Given the description of an element on the screen output the (x, y) to click on. 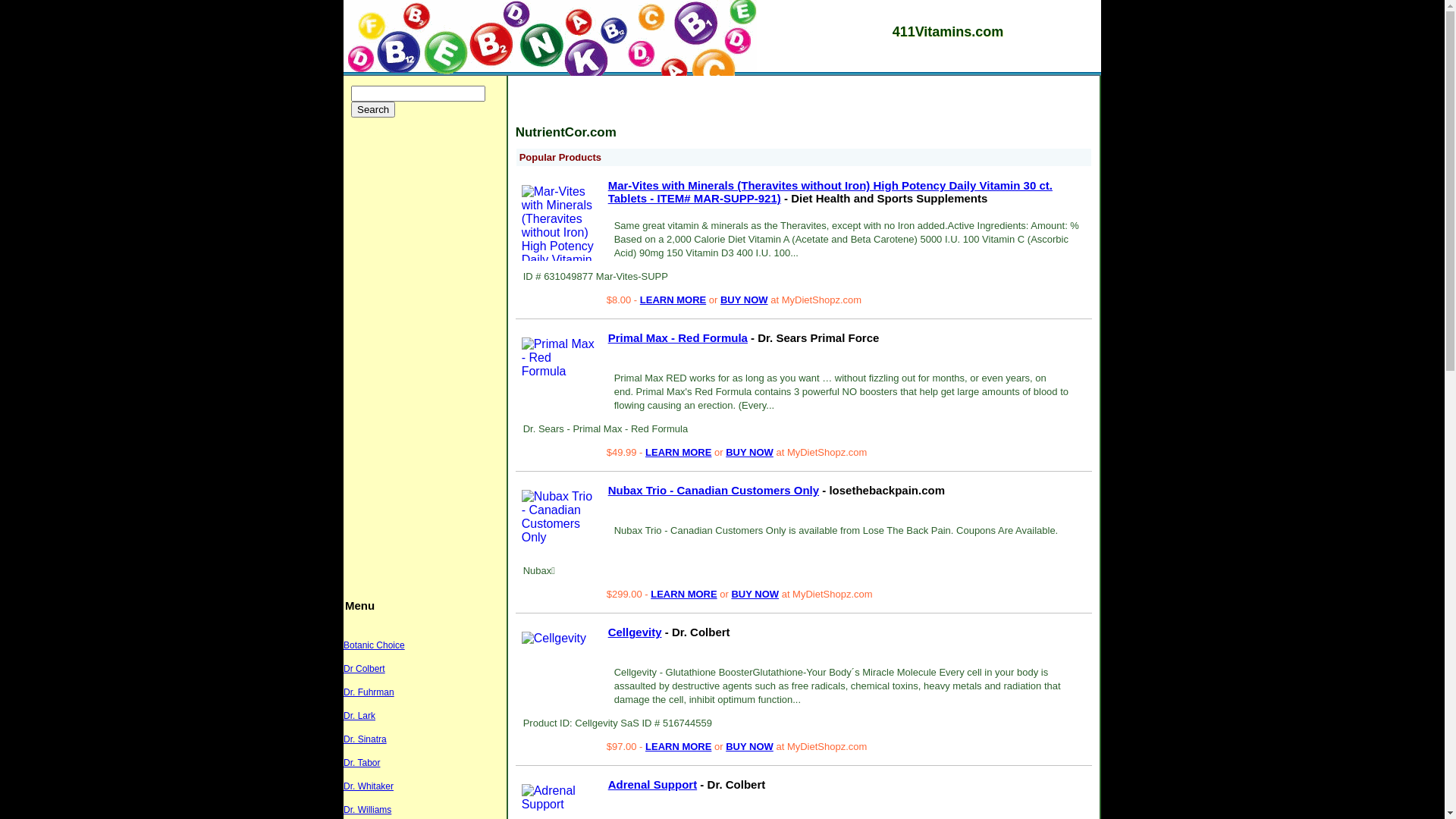
$97.00 Element type: text (622, 746)
BUY NOW Element type: text (749, 746)
BUY NOW Element type: text (744, 299)
Dr. Sinatra Element type: text (364, 739)
Botanic Choice Element type: text (373, 645)
LEARN MORE Element type: text (678, 452)
Search Element type: text (373, 109)
Advertisement Element type: hover (799, 103)
Nubax Trio - Canadian Customers Only Element type: hover (559, 516)
Primal Max - Red Formula Element type: text (677, 337)
BUY NOW Element type: text (754, 593)
$299.00 Element type: text (625, 593)
LEARN MORE Element type: text (673, 299)
BUY NOW Element type: text (749, 452)
LEARN MORE Element type: text (678, 746)
LEARN MORE Element type: text (683, 593)
$8.00 Element type: text (619, 299)
$49.99 Element type: text (622, 452)
Nubax Trio - Canadian Customers Only Element type: text (713, 489)
Advertisement Element type: hover (428, 354)
Cellgevity Element type: text (635, 631)
Adrenal Support Element type: text (652, 784)
Dr. Tabor Element type: text (361, 762)
Dr. Whitaker Element type: text (368, 786)
Adrenal Support Element type: hover (559, 797)
Cellgevity Element type: hover (553, 638)
Primal Max - Red Formula Element type: hover (559, 357)
Dr Colbert Element type: text (364, 668)
Dr. Williams Element type: text (367, 809)
Dr. Lark Element type: text (359, 715)
Dr. Fuhrman Element type: text (368, 692)
